Given the description of an element on the screen output the (x, y) to click on. 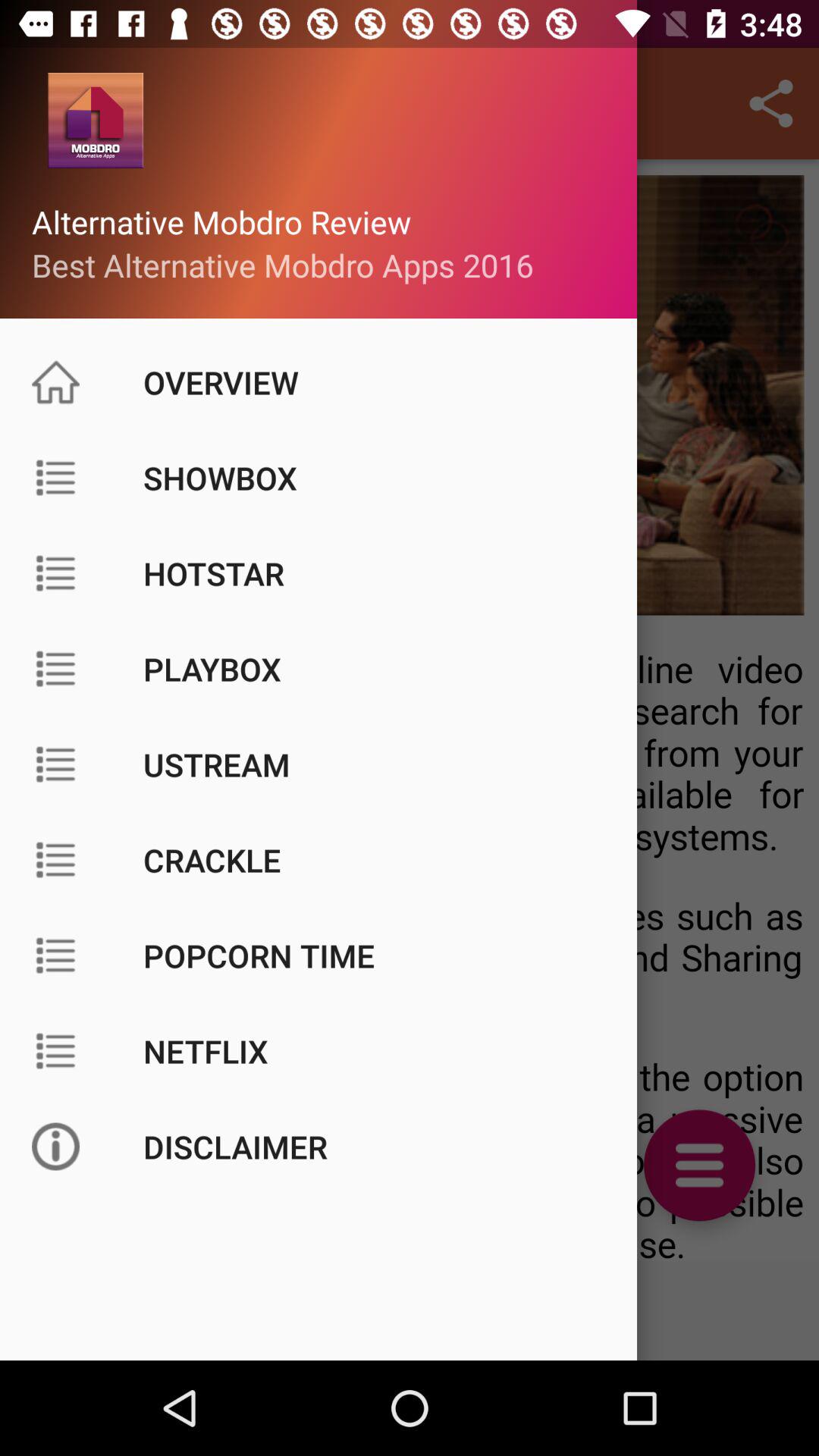
go to share (771, 103)
